Given the description of an element on the screen output the (x, y) to click on. 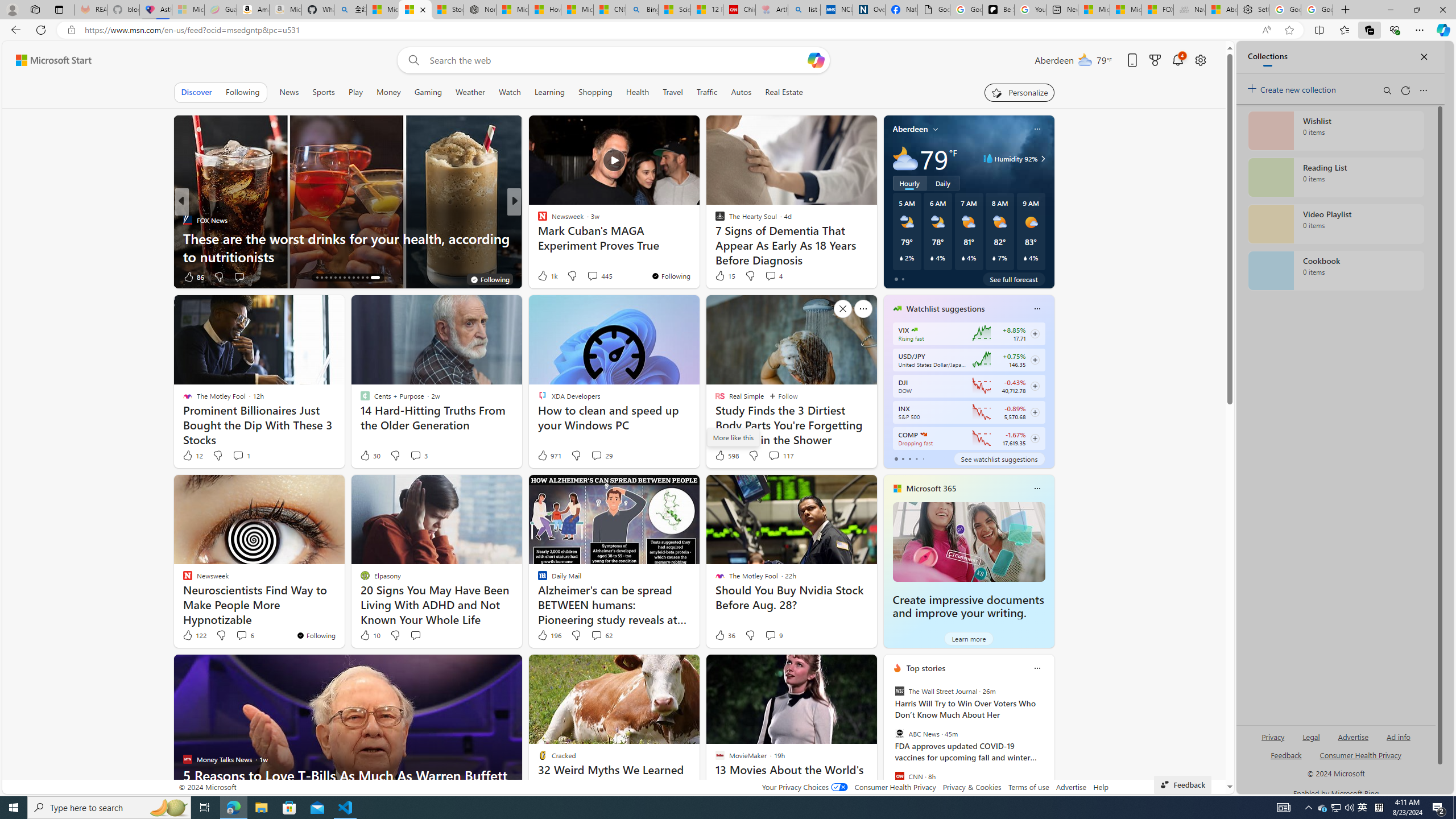
AutomationID: tab-15 (321, 277)
196 Like (548, 634)
Daily (942, 183)
CNN - MSN (609, 9)
AutomationID: tab-19 (339, 277)
Enter your search term (617, 59)
Bing (641, 9)
View comments 62 Comment (595, 635)
View comments 9 Comment (770, 635)
